Given the description of an element on the screen output the (x, y) to click on. 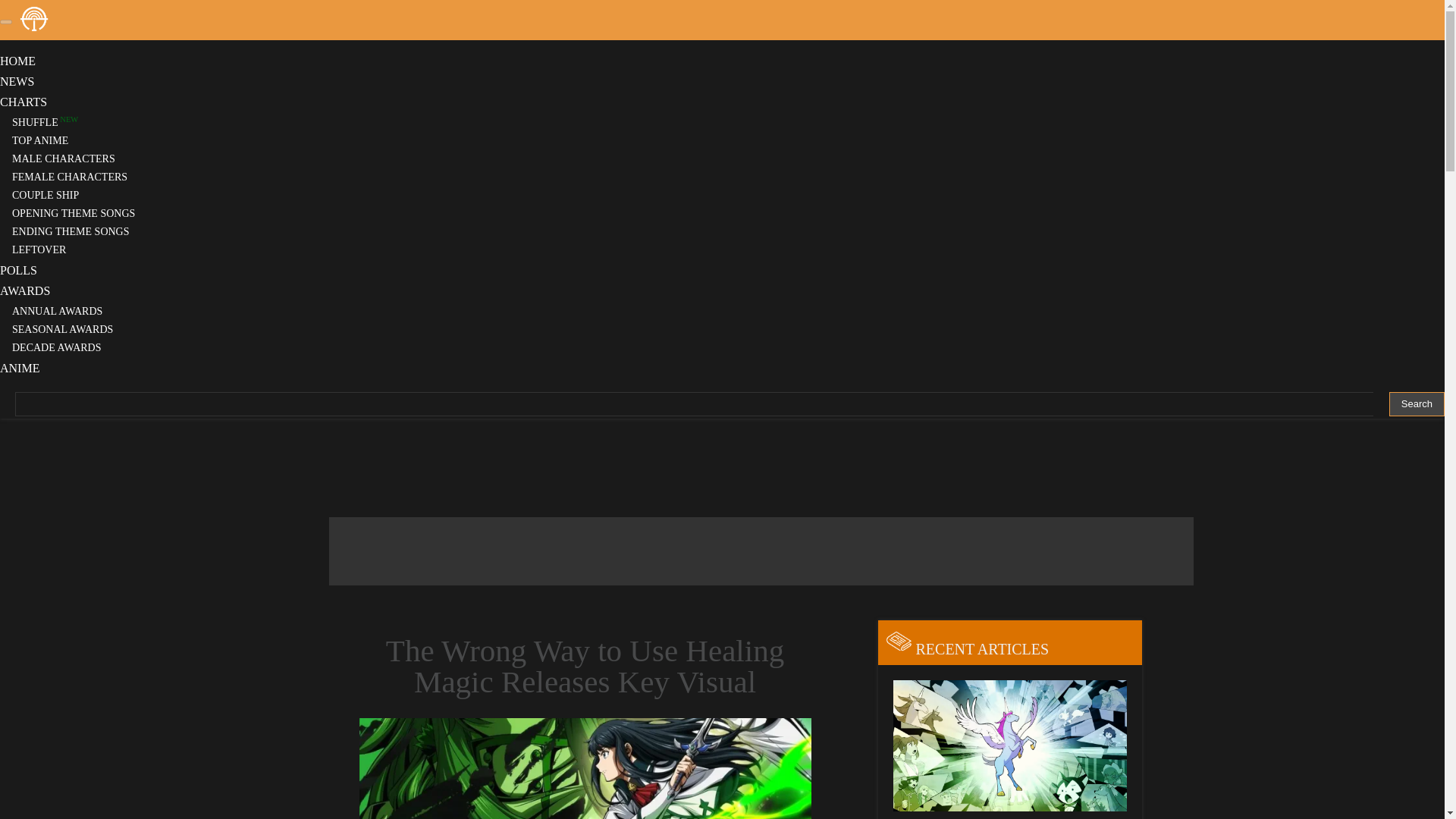
COUPLE SHIP (45, 194)
ANNUAL AWARDS (57, 310)
TOP ANIME (40, 140)
DECADE AWARDS (56, 347)
HOME (17, 60)
FEMALE CHARACTERS (69, 176)
OPENING THEME SONGS (73, 213)
Advertisement (761, 550)
POLLS (18, 269)
CHARTS (23, 101)
ENDING THEME SONGS (70, 231)
SEASONAL AWARDS (62, 328)
ANIME (19, 367)
NEWS (16, 81)
MALE CHARACTERS (64, 158)
